Given the description of an element on the screen output the (x, y) to click on. 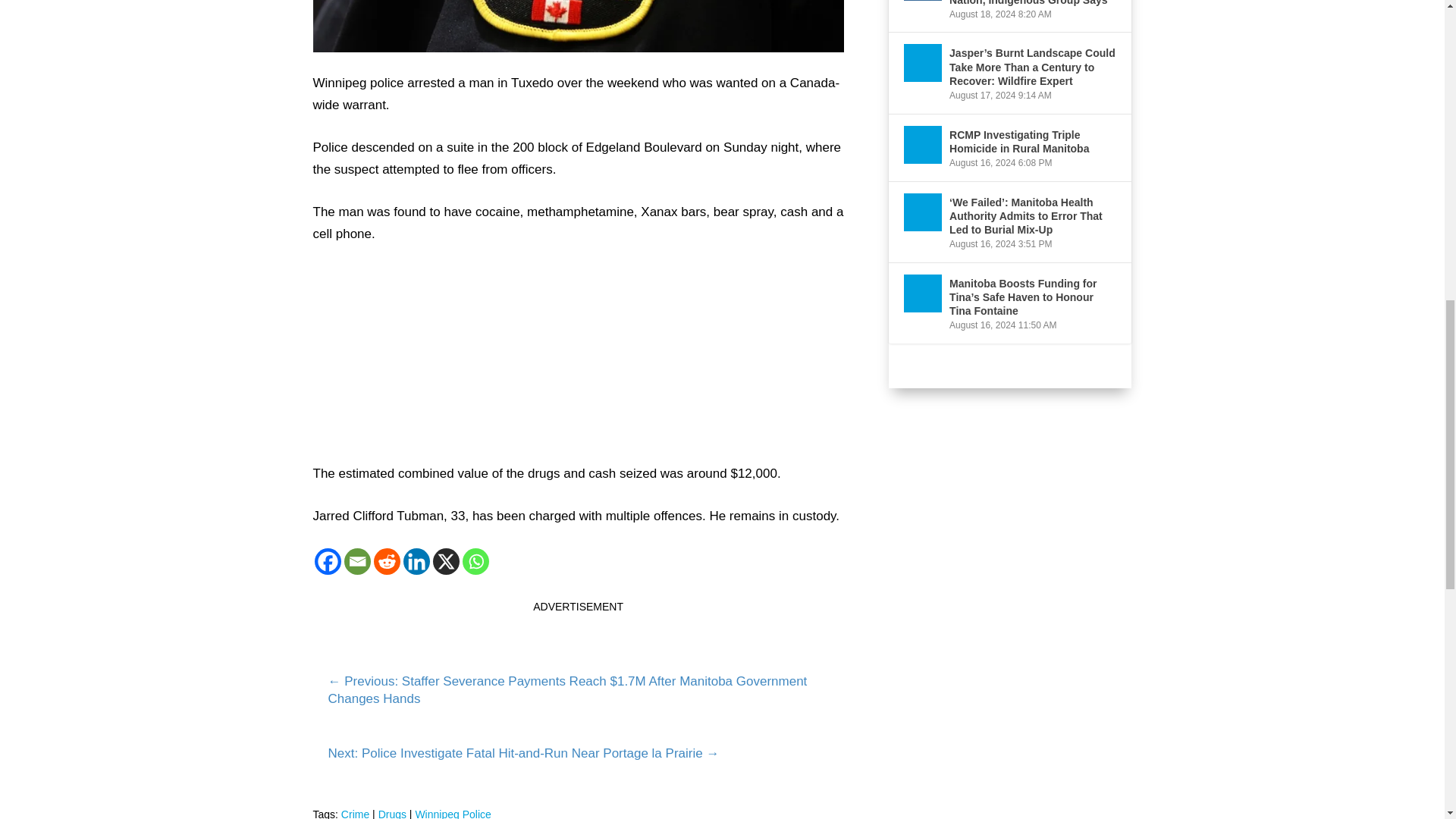
Linkedin (416, 560)
Facebook (327, 560)
Whatsapp (476, 560)
Reddit (385, 560)
RCMP Investigating Triple Homicide in Rural Manitoba (923, 144)
X (445, 560)
Email (357, 560)
